Given the description of an element on the screen output the (x, y) to click on. 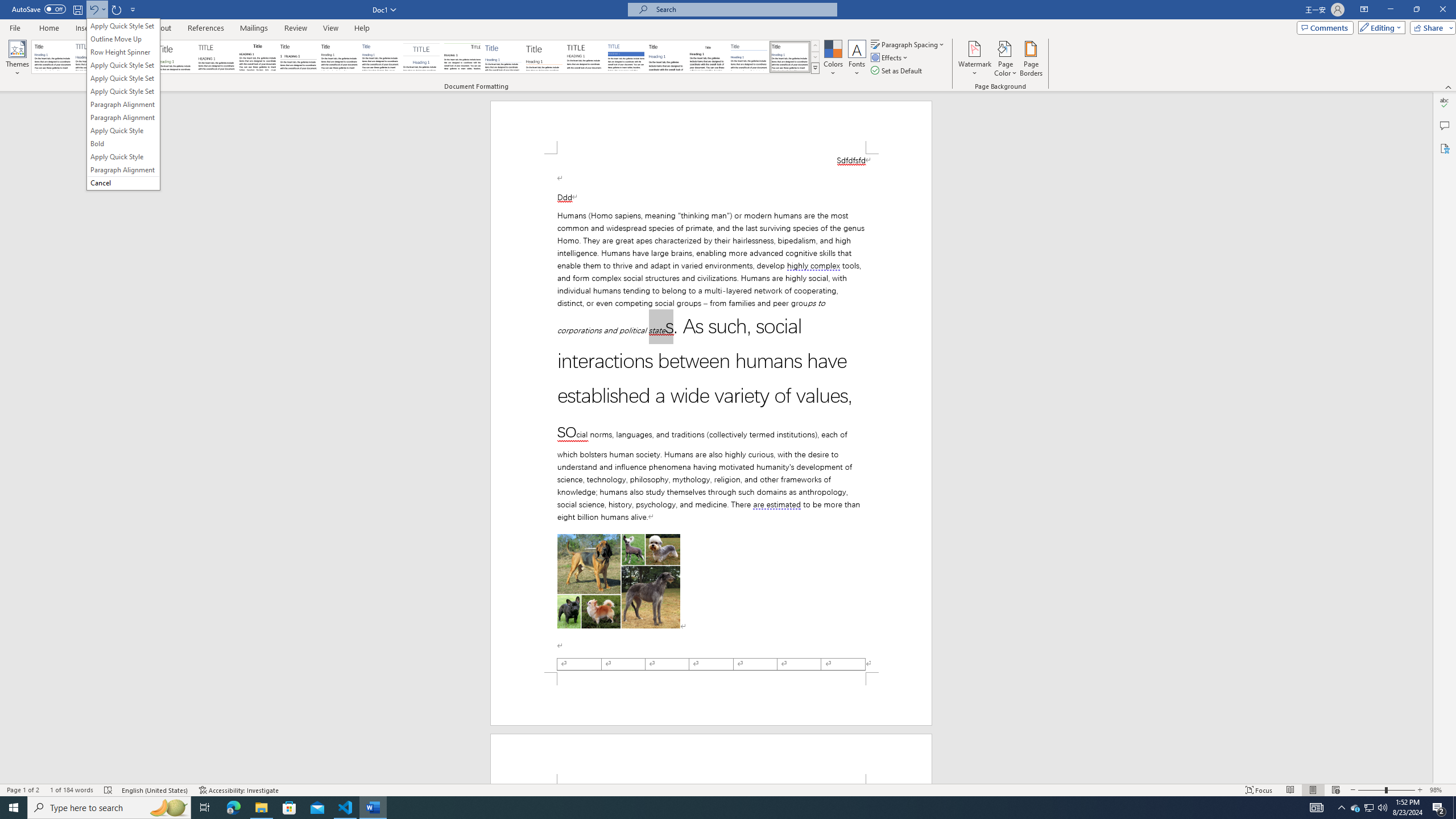
Accessibility (1444, 147)
Minimalist (584, 56)
Running applications (717, 807)
